Given the description of an element on the screen output the (x, y) to click on. 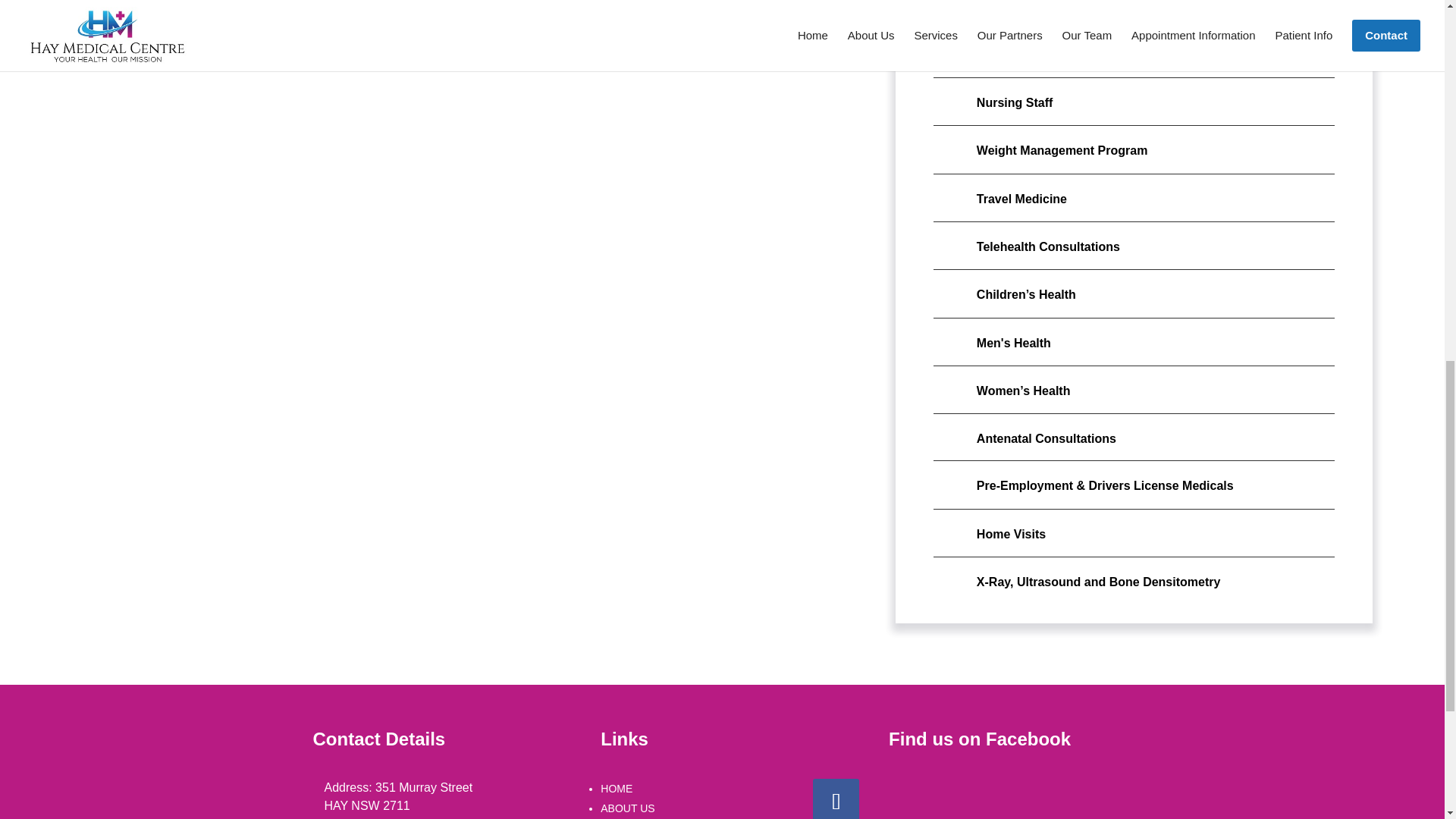
ABOUT US (626, 808)
HOME (615, 788)
Follow on Facebook (835, 798)
